Given the description of an element on the screen output the (x, y) to click on. 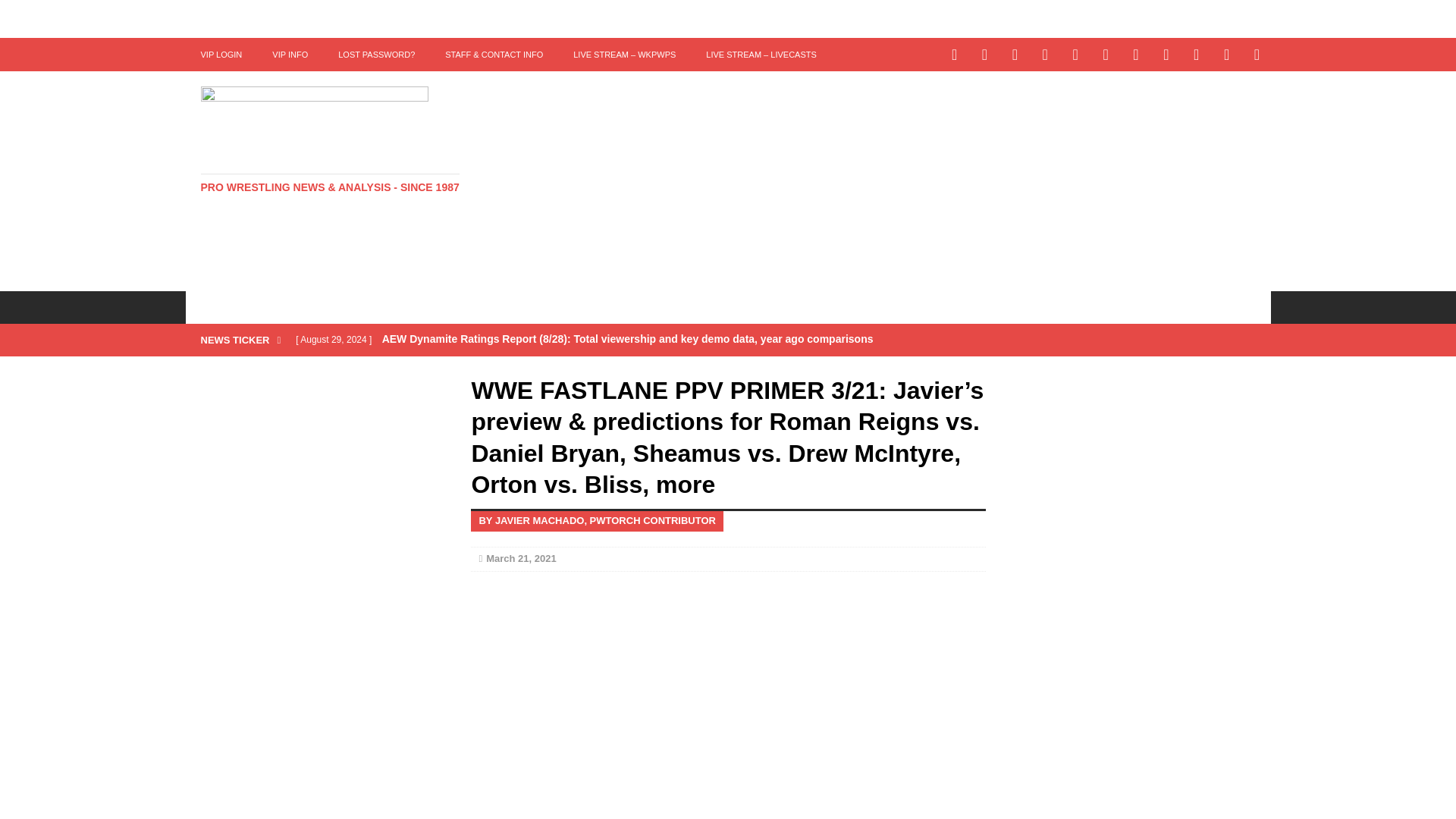
NEWS (278, 306)
HOME (215, 306)
VIP LOGIN (220, 54)
LOST PASSWORD? (376, 54)
VIP INFO (290, 54)
